Given the description of an element on the screen output the (x, y) to click on. 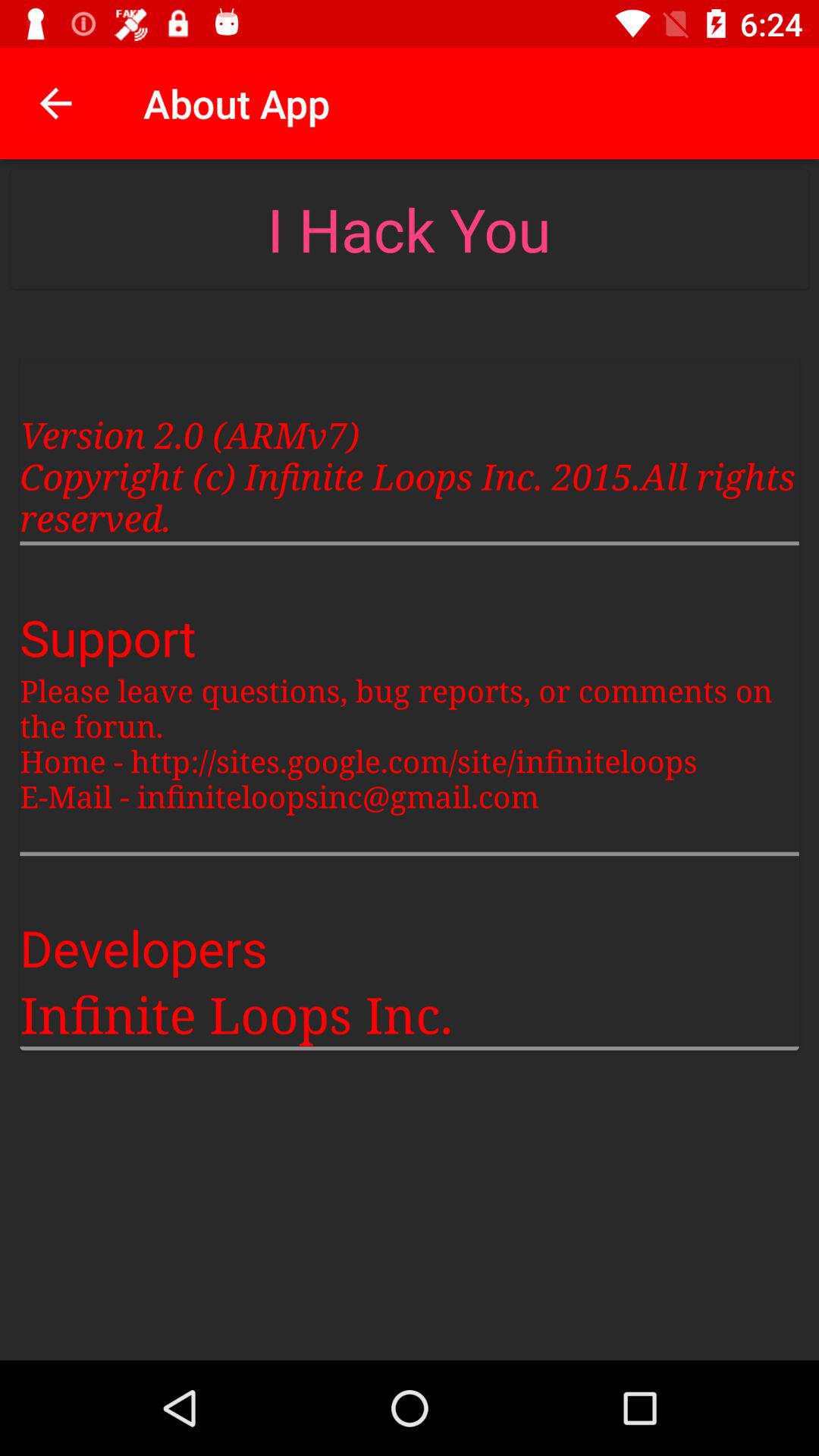
click icon to the left of about app item (55, 103)
